Given the description of an element on the screen output the (x, y) to click on. 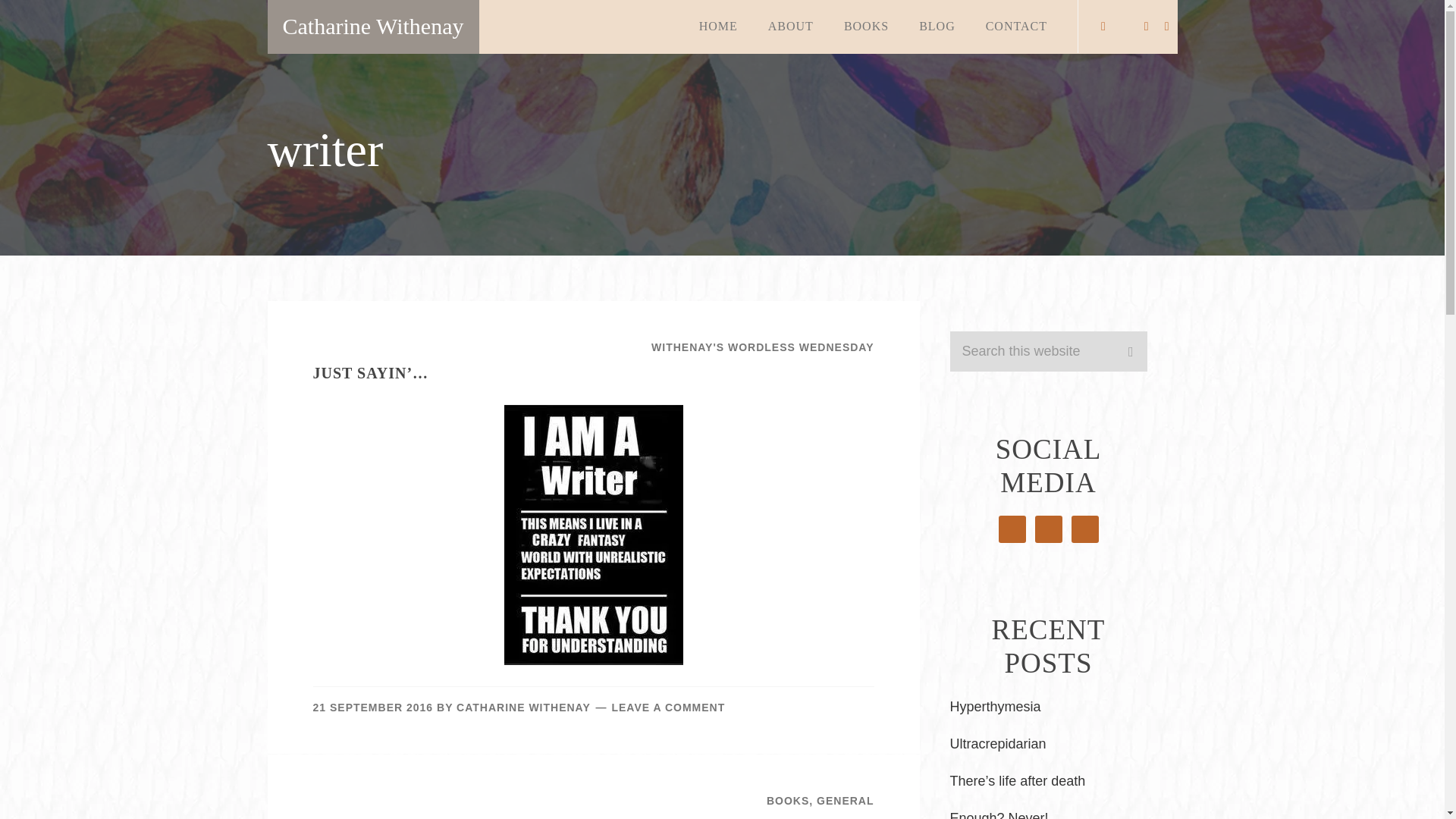
LEAVE A COMMENT (668, 707)
BOOKS (866, 26)
Hyperthymesia (995, 706)
Catharine Withenay (372, 27)
CATHARINE WITHENAY (523, 707)
WITHENAY'S WORDLESS WEDNESDAY (761, 346)
GENERAL (844, 800)
Enough? Never! (998, 814)
HOME (718, 26)
BLOG (937, 26)
ABOUT (790, 26)
Ultracrepidarian (997, 743)
